Given the description of an element on the screen output the (x, y) to click on. 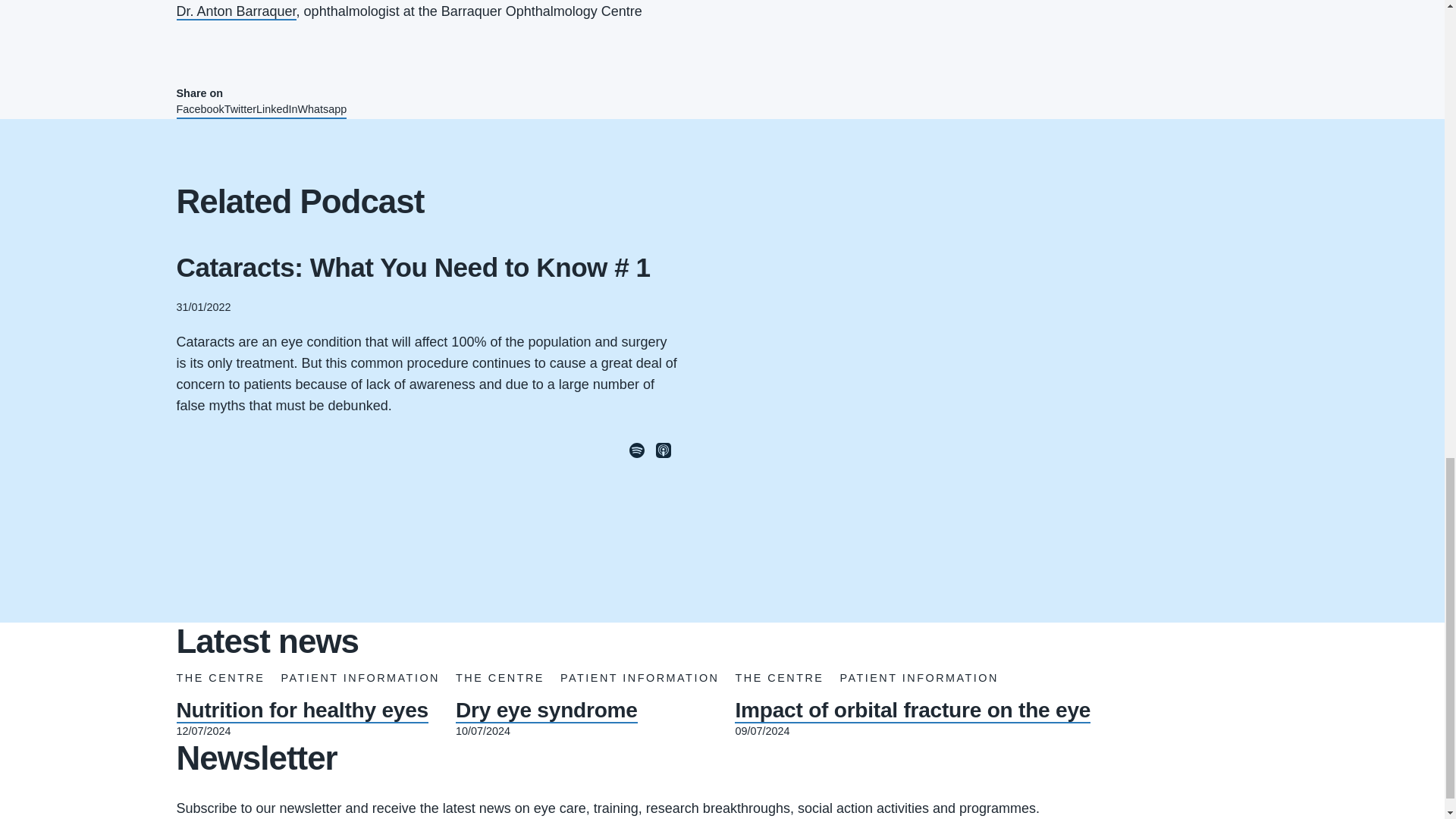
Share on  LinkedIn (276, 109)
Share on  Whatsapp (322, 109)
Share on  Facebook (200, 109)
Share on  Twitter (240, 109)
